Given the description of an element on the screen output the (x, y) to click on. 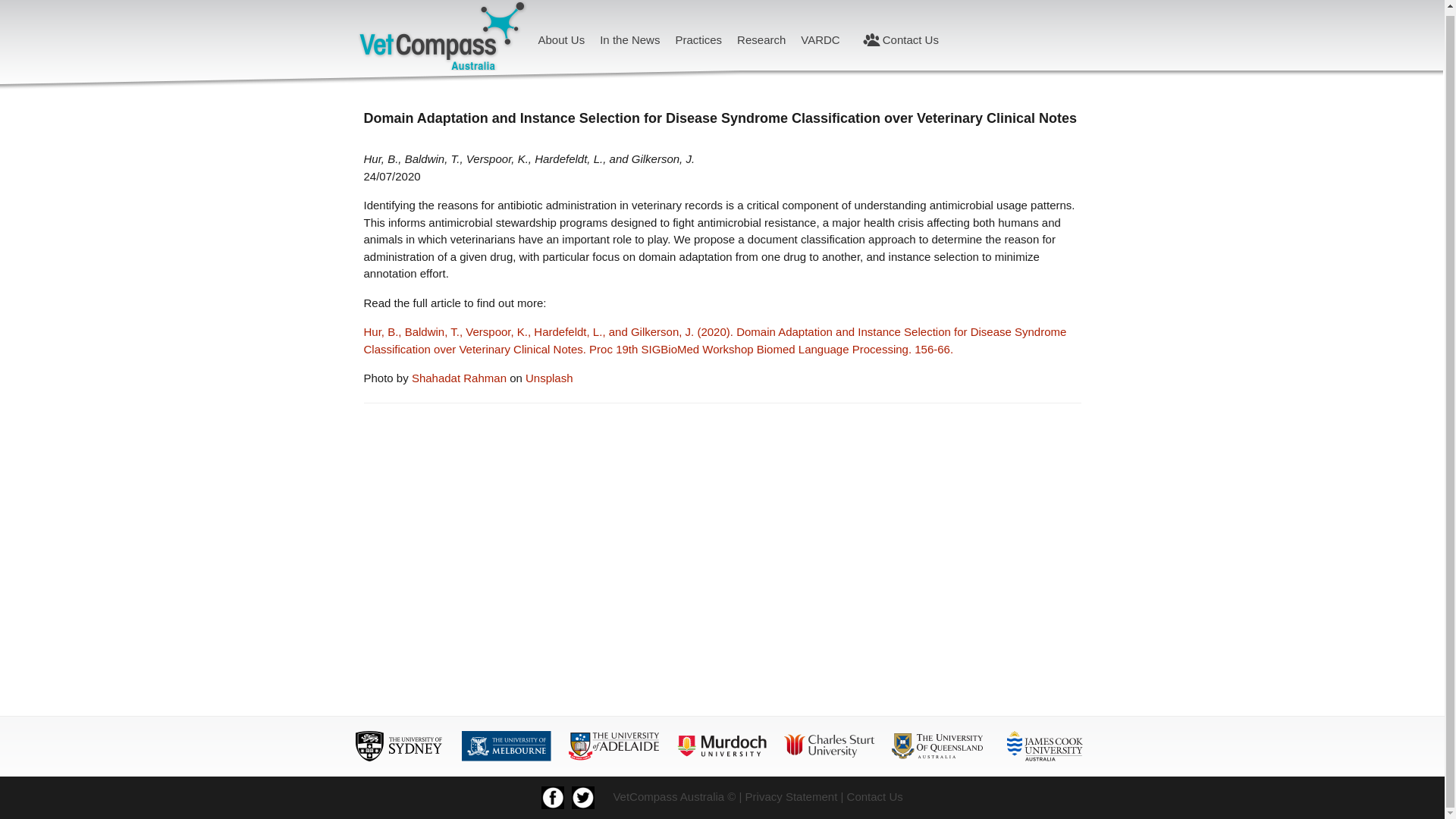
Research (761, 39)
About Us (561, 39)
In the News (629, 39)
In the News (629, 39)
About Us (561, 39)
Practices (697, 39)
